Given the description of an element on the screen output the (x, y) to click on. 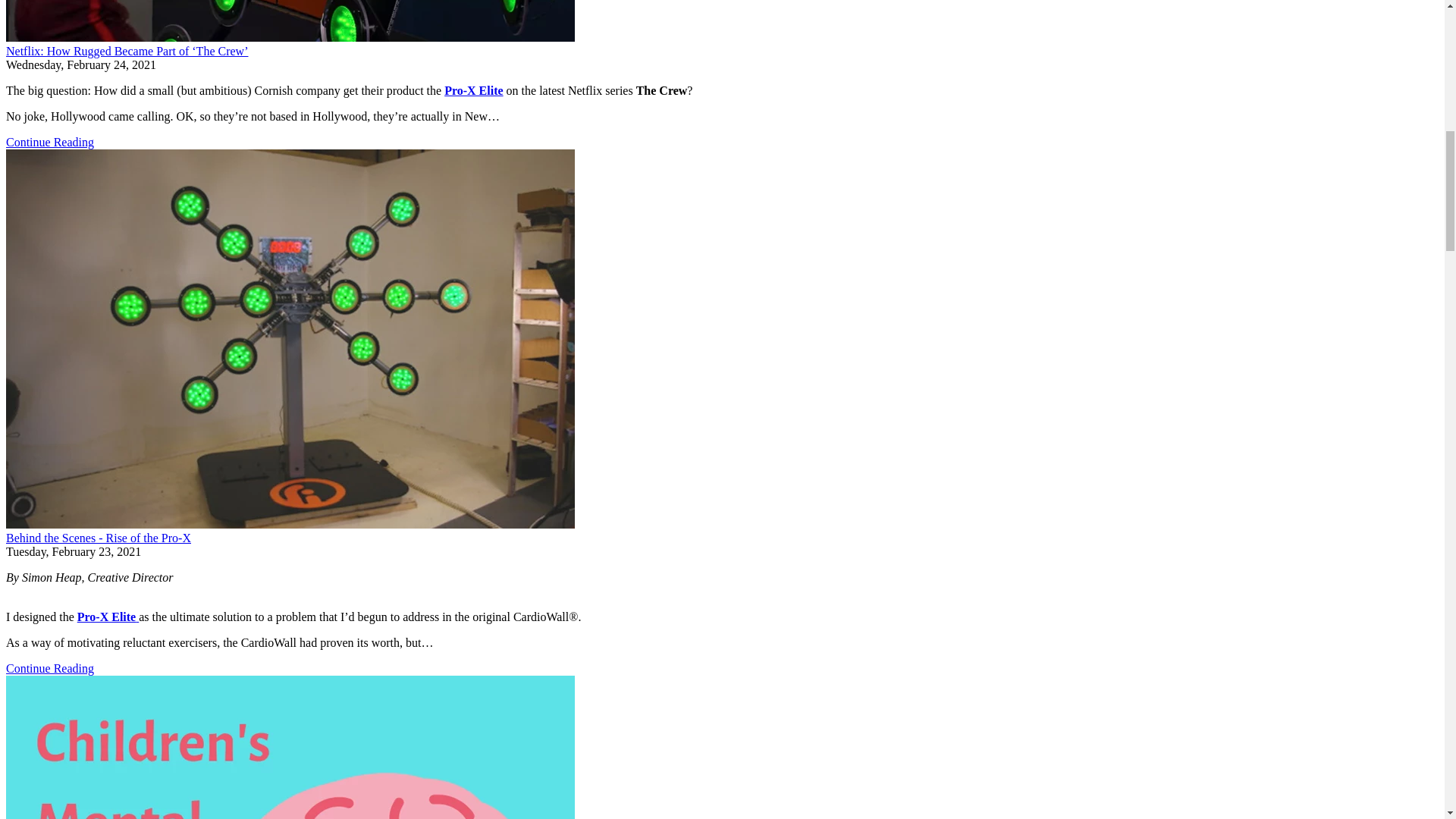
Behind the Scenes - Rise of the Pro-X (97, 537)
CardioWall Pro-X Elite (473, 90)
Pro-X Elite (107, 616)
Continue Reading (49, 141)
Continue Reading (49, 667)
CardioWall Pro-X Elite (107, 616)
Pro-X Elite (473, 90)
